Given the description of an element on the screen output the (x, y) to click on. 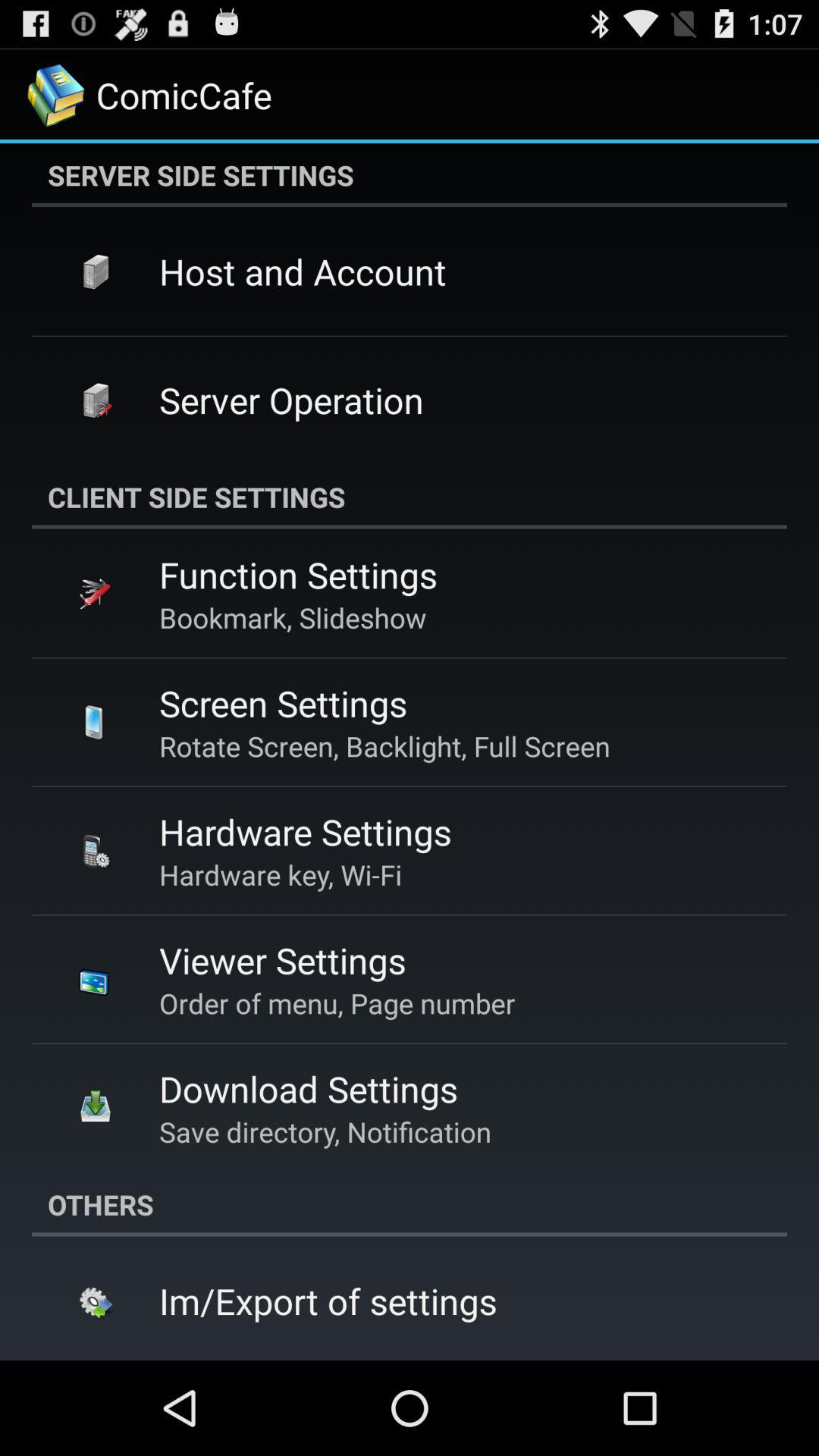
open icon below the order of menu (308, 1088)
